Given the description of an element on the screen output the (x, y) to click on. 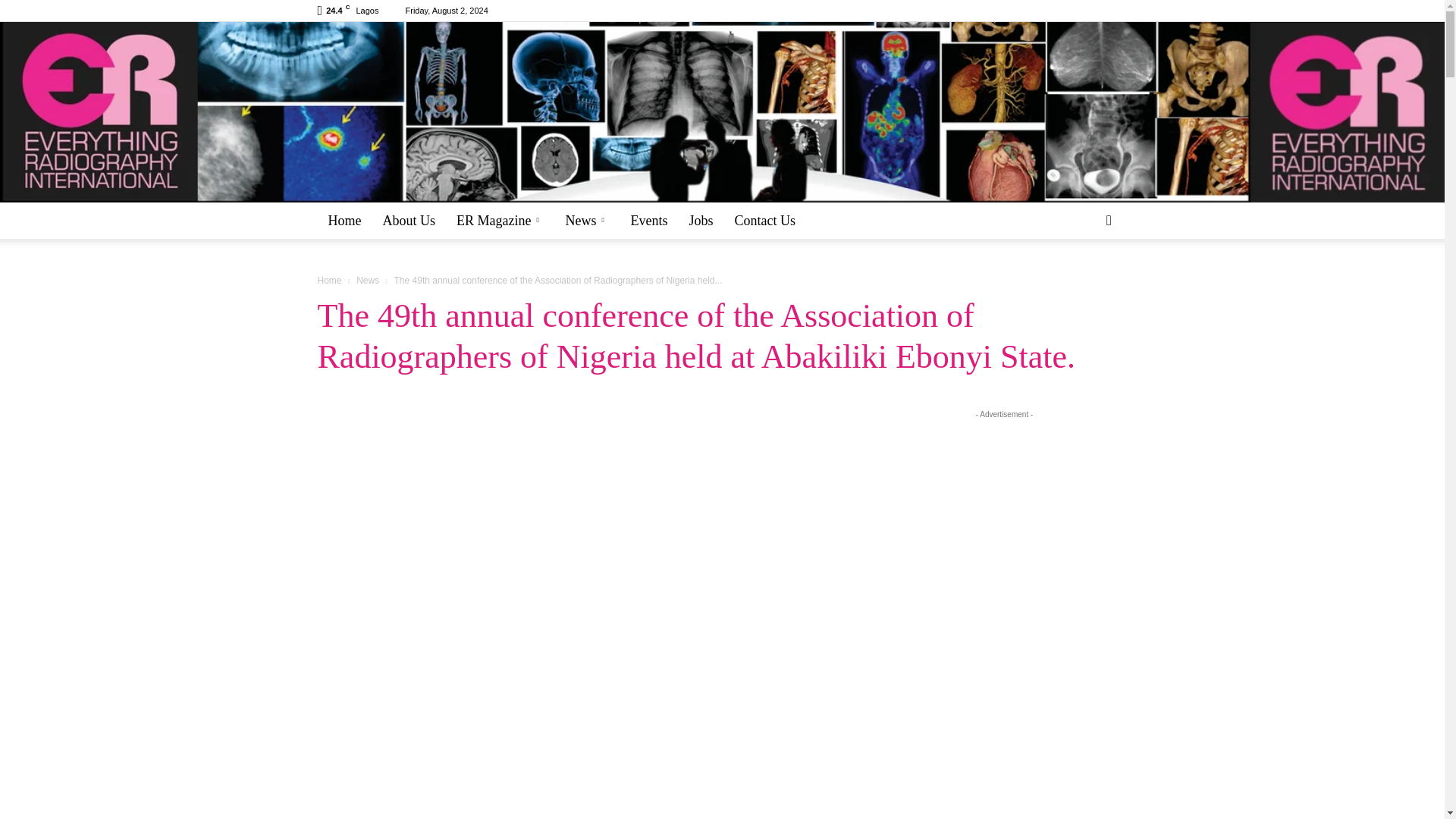
Home (344, 220)
ER Magazine (499, 220)
Facebook (1040, 10)
Linkedin (1090, 10)
About Us (408, 220)
Twitter (1114, 10)
Instagram (1065, 10)
